Given the description of an element on the screen output the (x, y) to click on. 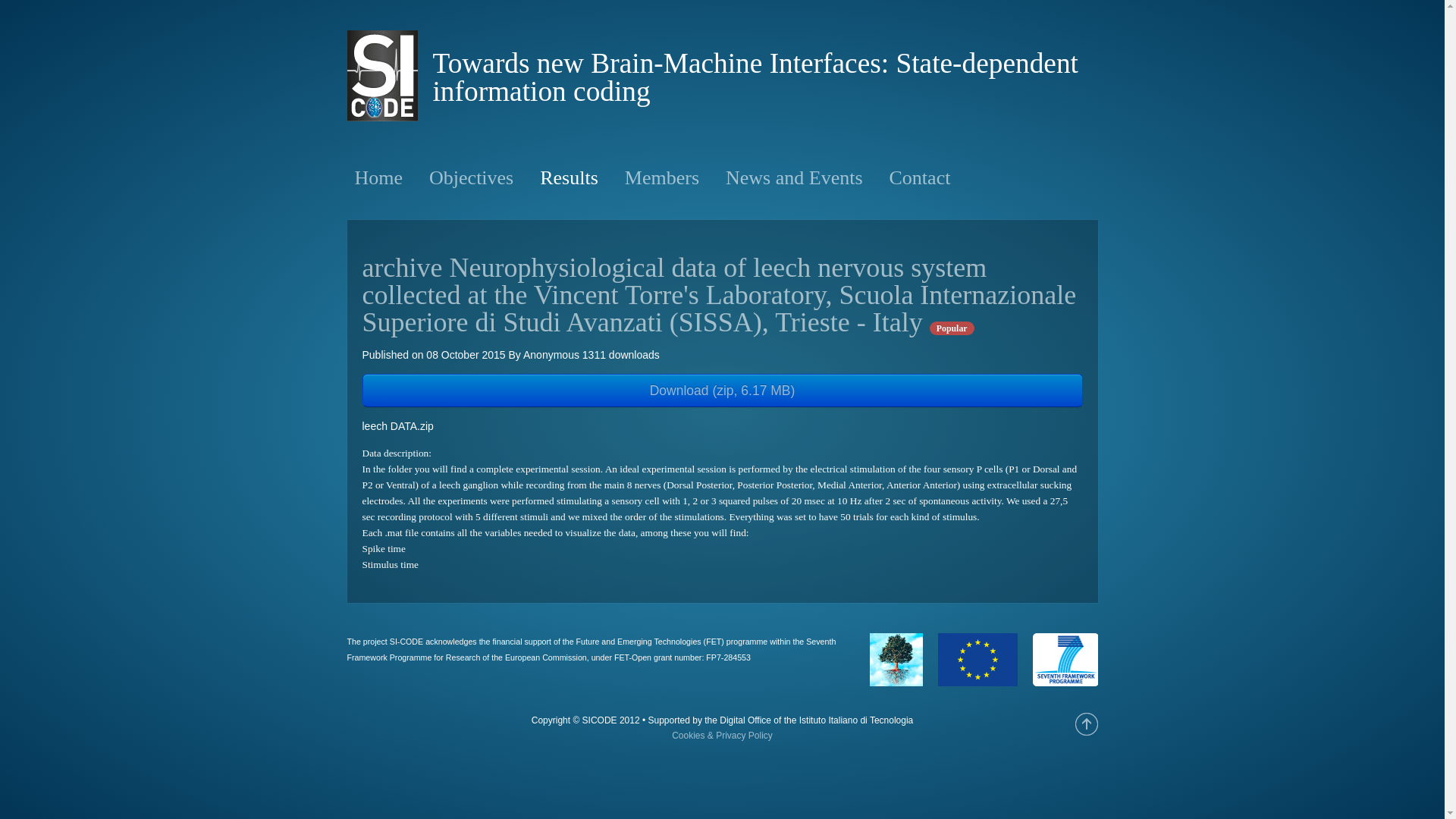
Home (378, 178)
Contact (920, 178)
News and Events (793, 178)
Members (661, 178)
leech DATA.zip (722, 426)
Objectives (471, 178)
